Given the description of an element on the screen output the (x, y) to click on. 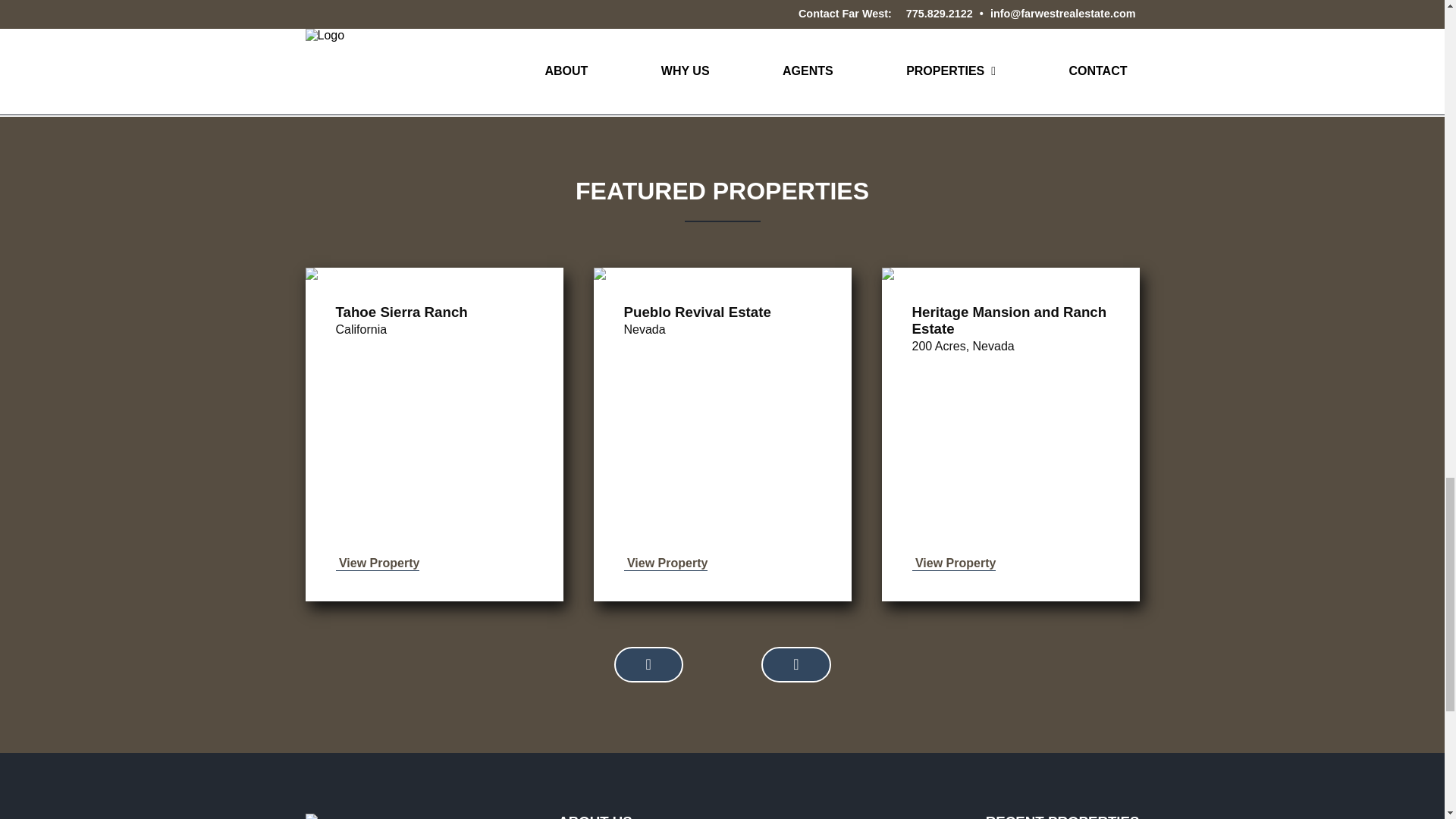
 View Property (953, 563)
 View Property (665, 563)
 View Property (376, 563)
